Given the description of an element on the screen output the (x, y) to click on. 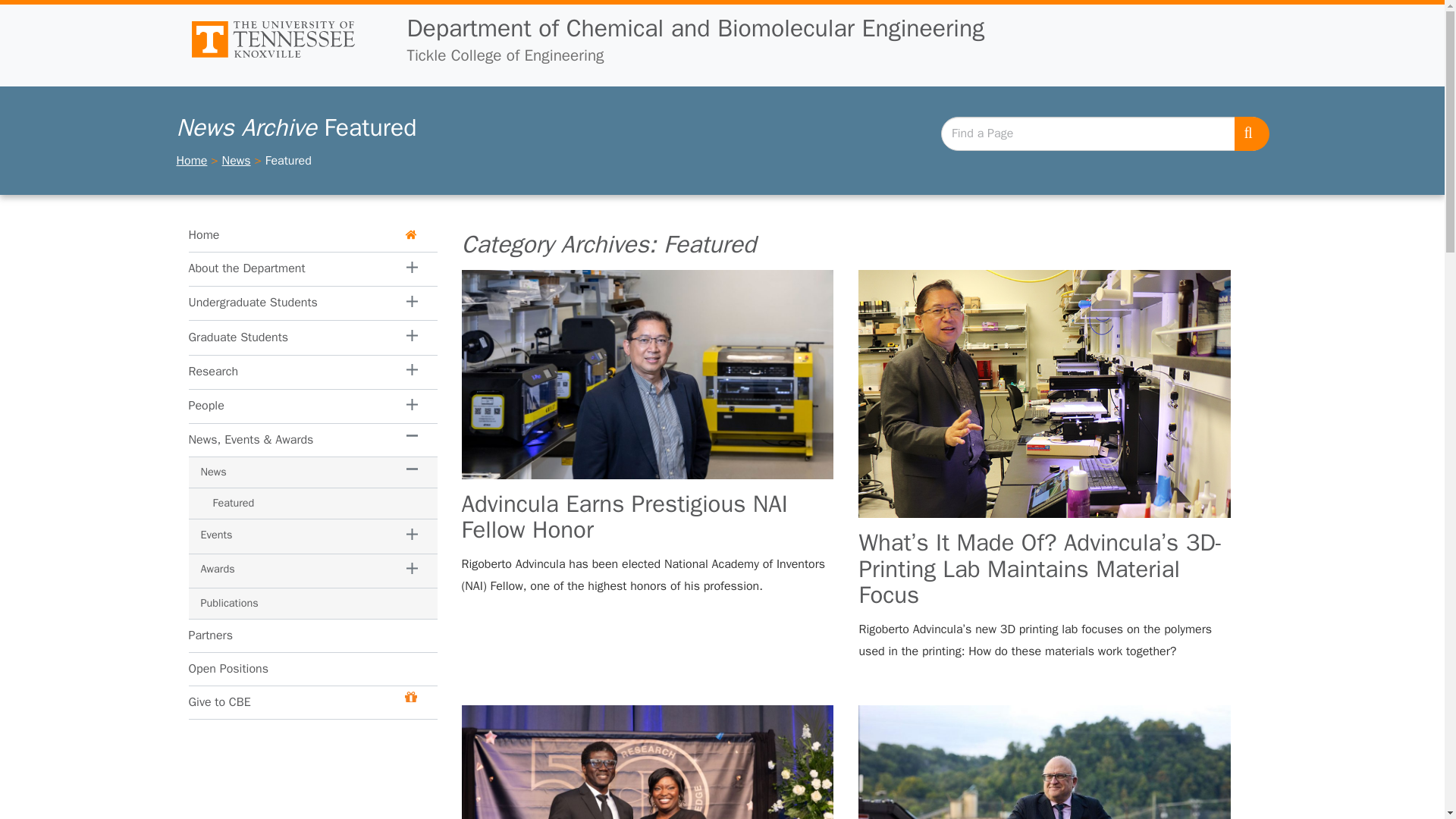
Toggle Sub Menu (412, 337)
Toggle Sub Menu (212, 371)
About the Department (287, 268)
Toggle Sub Menu (212, 372)
Toggle Sub Menu (412, 268)
Undergraduate Students (287, 302)
News (236, 160)
Home (191, 160)
